Given the description of an element on the screen output the (x, y) to click on. 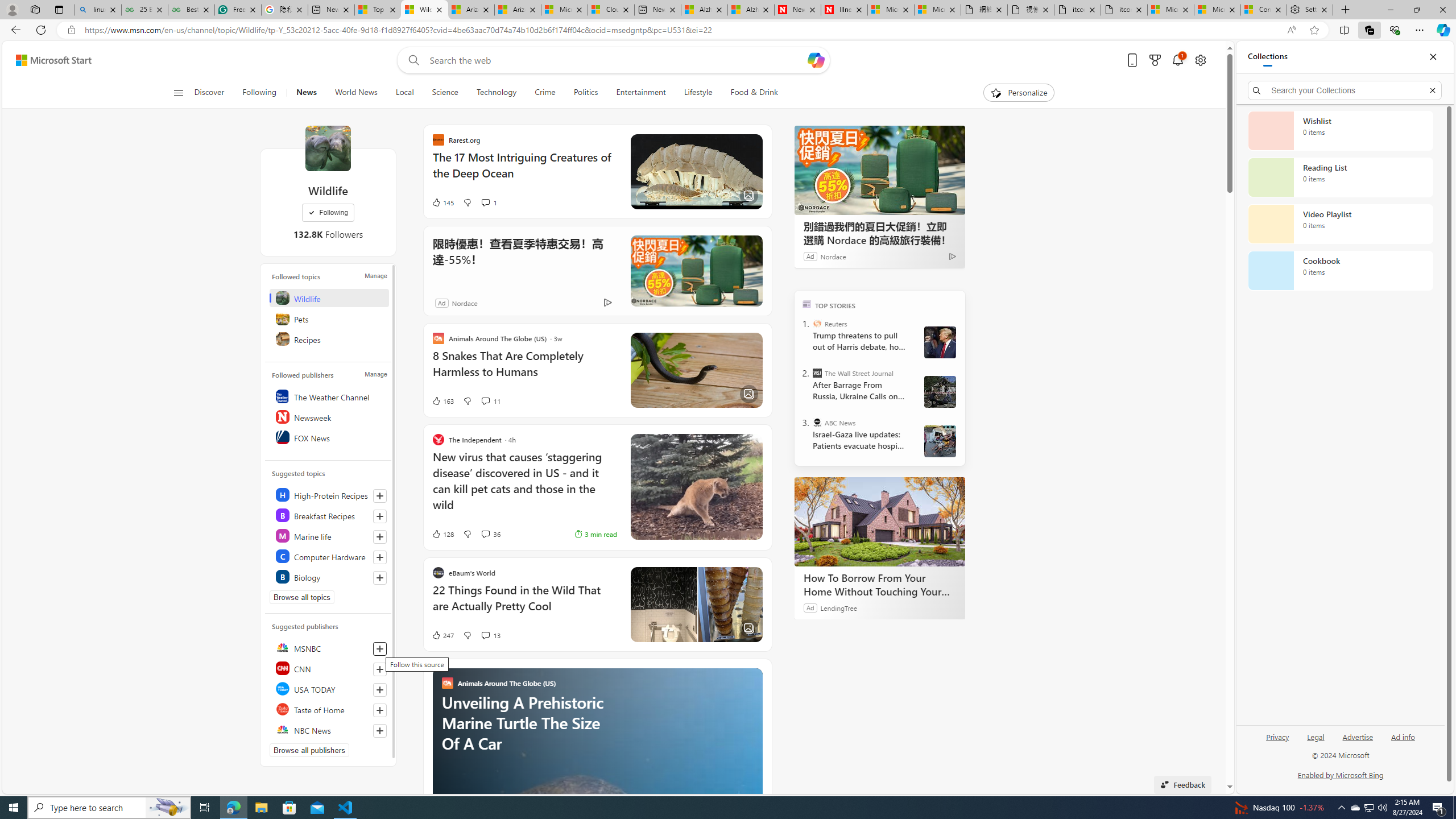
The 17 Most Intriguing Creatures of the Deep Ocean (524, 171)
TOP (806, 302)
View comments 36 Comment (490, 533)
